Given the description of an element on the screen output the (x, y) to click on. 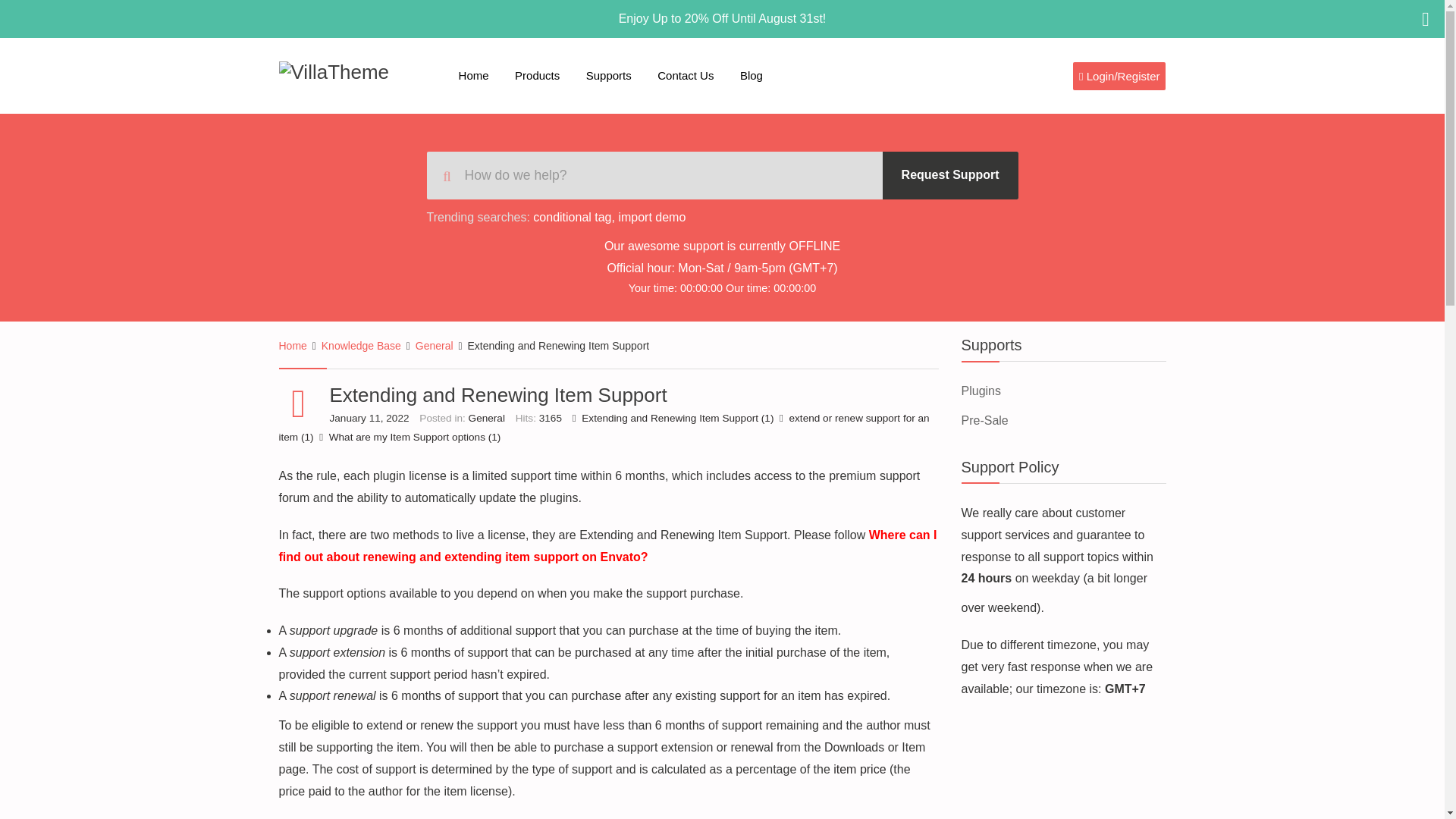
General (433, 345)
import demo (651, 216)
Contact Us (685, 75)
Supports (609, 75)
Home (293, 345)
Please login to make request support. (949, 175)
Products (536, 75)
Knowledge Base (361, 345)
conditional tag (571, 216)
